Given the description of an element on the screen output the (x, y) to click on. 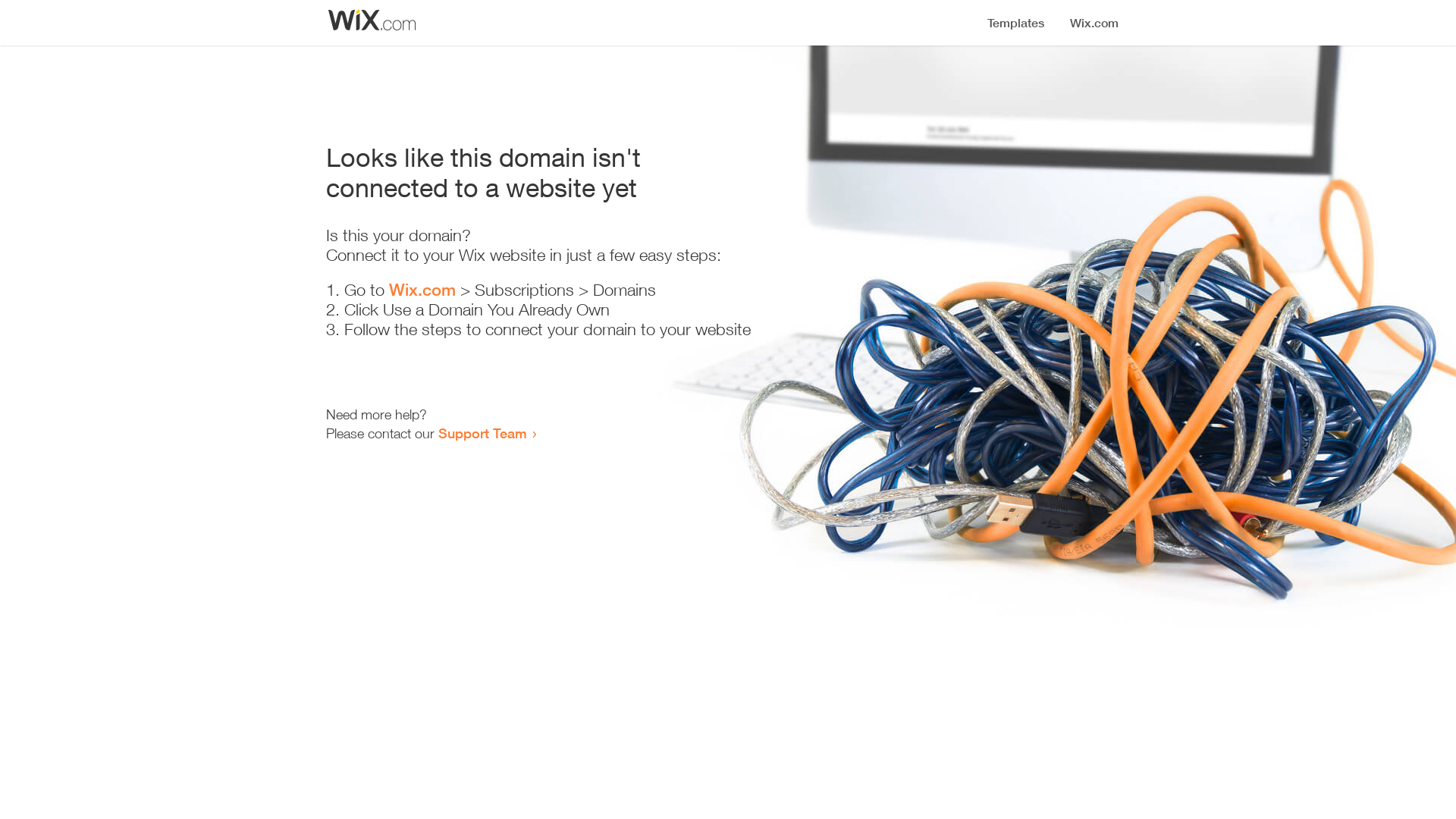
Wix.com Element type: text (422, 289)
Support Team Element type: text (482, 432)
